Given the description of an element on the screen output the (x, y) to click on. 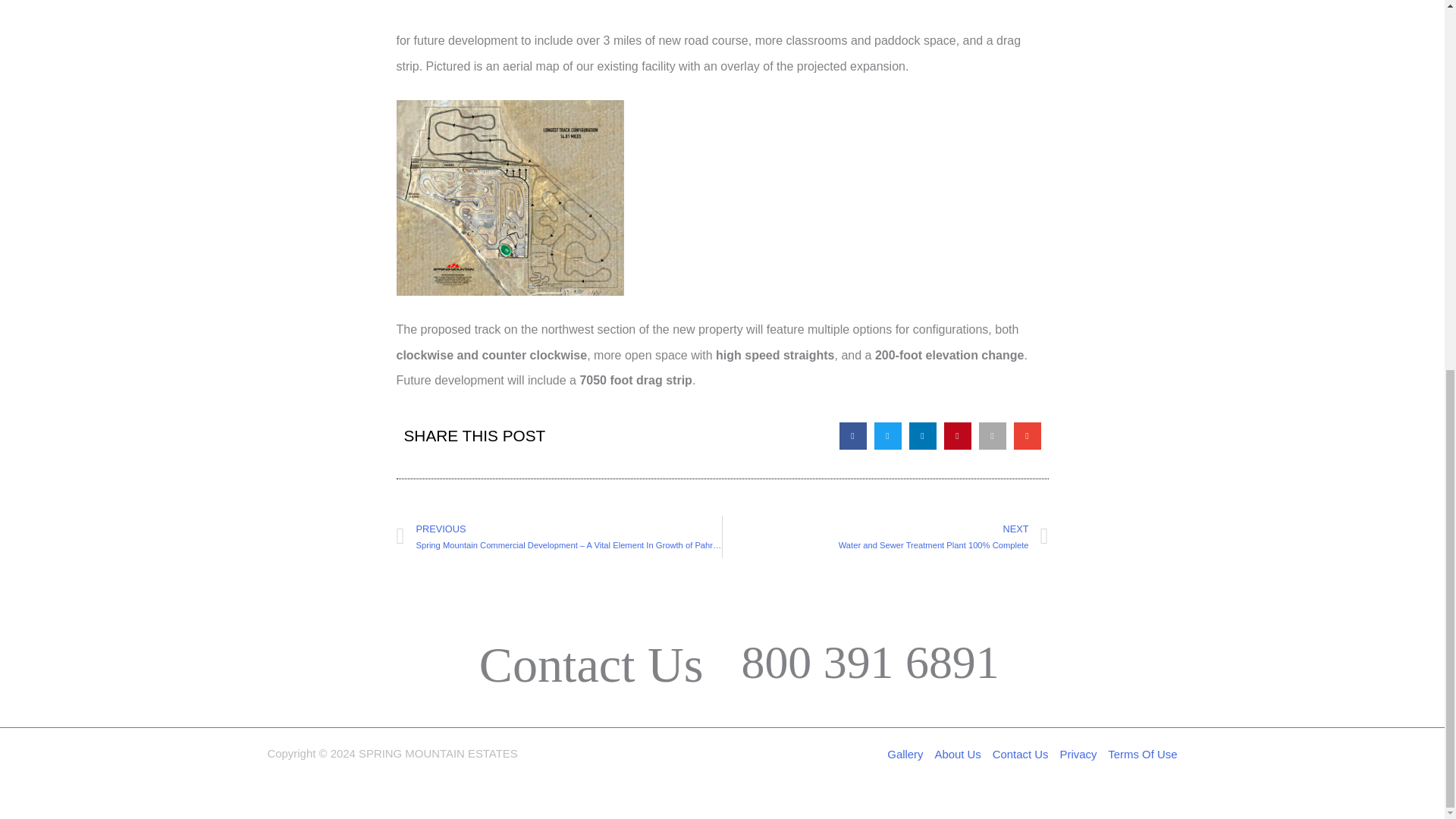
Bureau of Land Management (718, 11)
Privacy (1078, 753)
Gallery (907, 753)
Terms Of Use (1139, 753)
About Us (957, 753)
Contact Us (1020, 753)
